Given the description of an element on the screen output the (x, y) to click on. 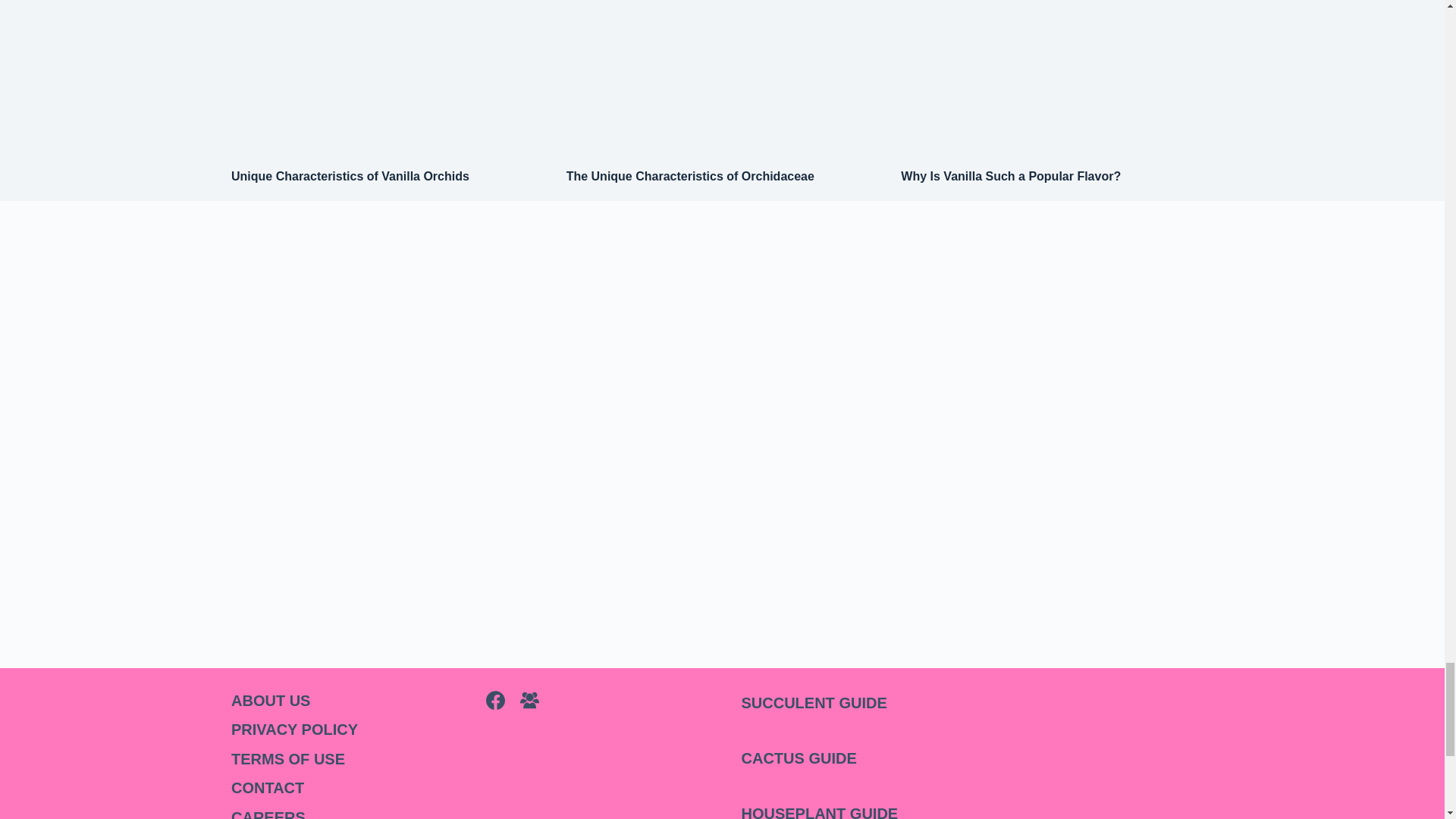
Unique Characteristics of Vanilla Orchids (349, 175)
The Unique Characteristics of Orchidaceae (689, 175)
